Given the description of an element on the screen output the (x, y) to click on. 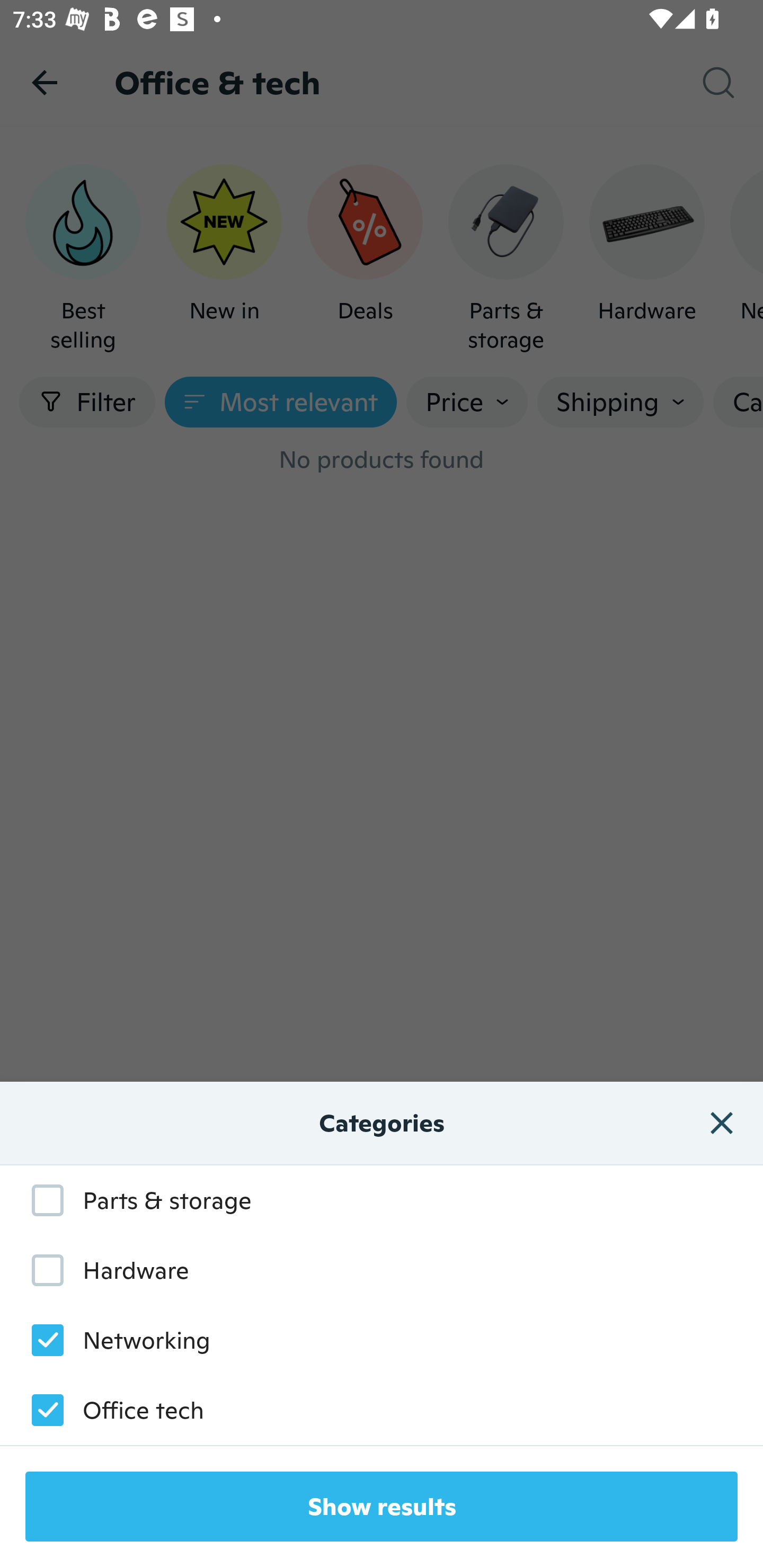
Parts & storage (132, 1200)
Hardware (101, 1269)
Networking (111, 1339)
Office tech (108, 1410)
Show results (381, 1506)
